Given the description of an element on the screen output the (x, y) to click on. 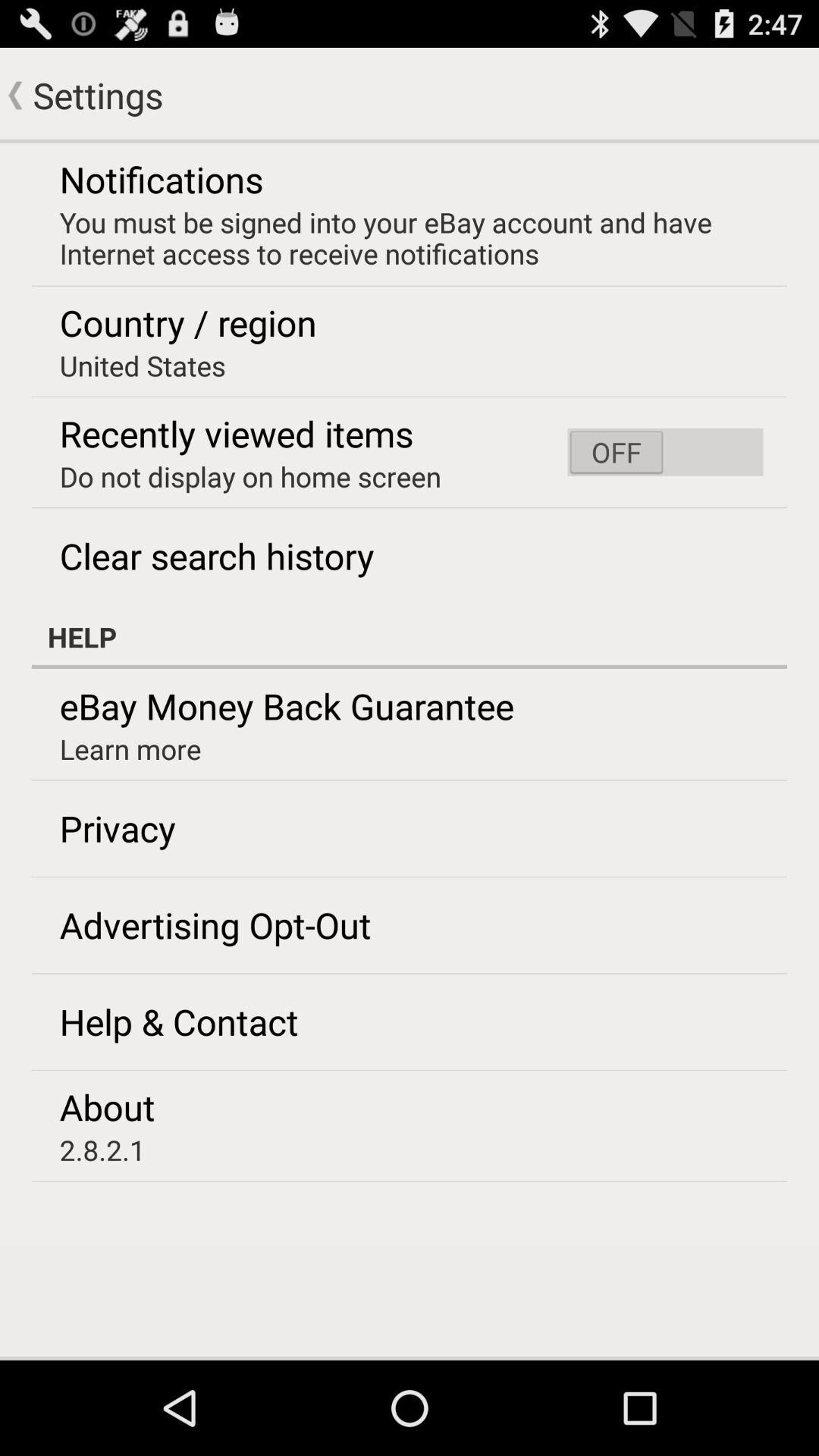
turn on advertising opt-out icon (215, 924)
